Given the description of an element on the screen output the (x, y) to click on. 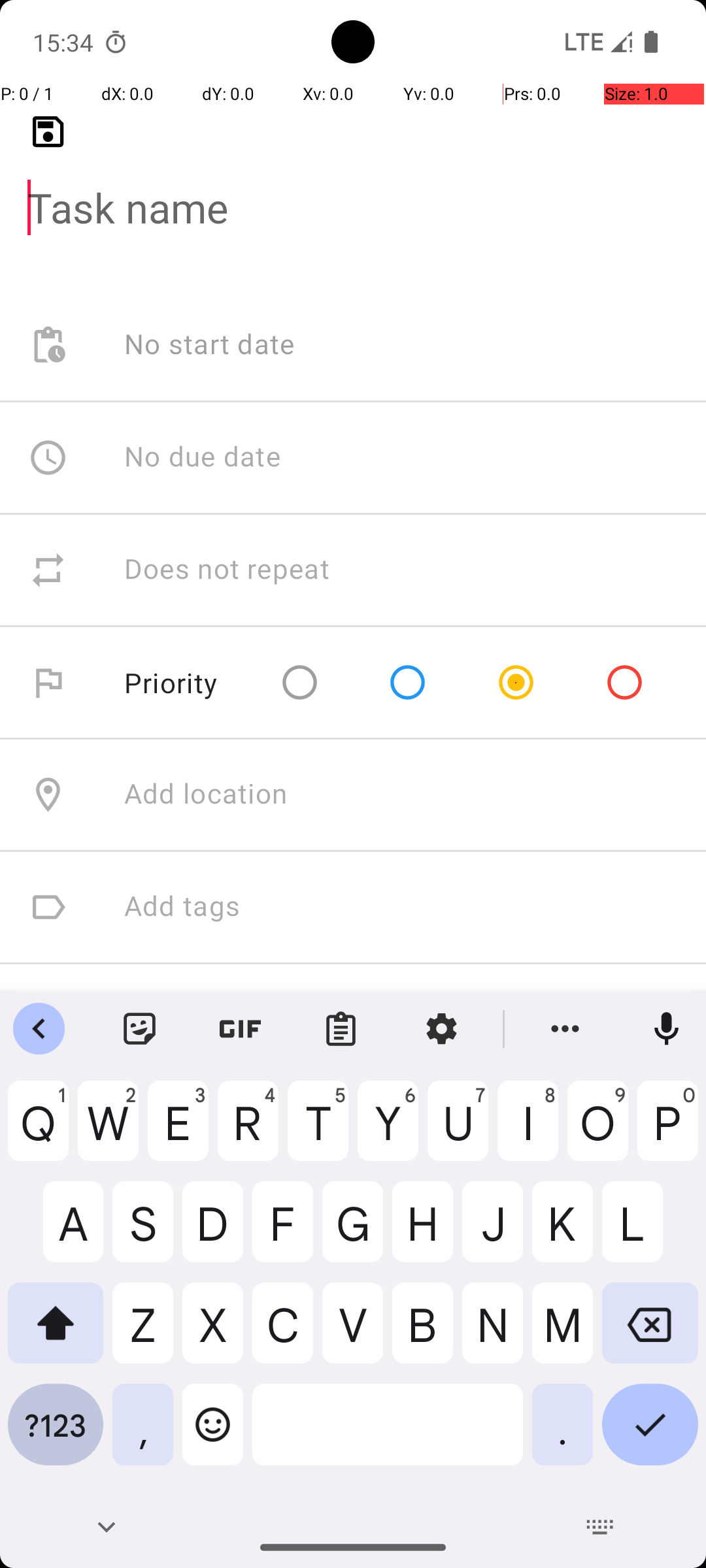
Task name Element type: android.widget.EditText (353, 186)
No due date Element type: android.widget.TextView (202, 457)
No start date Element type: android.widget.TextView (209, 344)
